Given the description of an element on the screen output the (x, y) to click on. 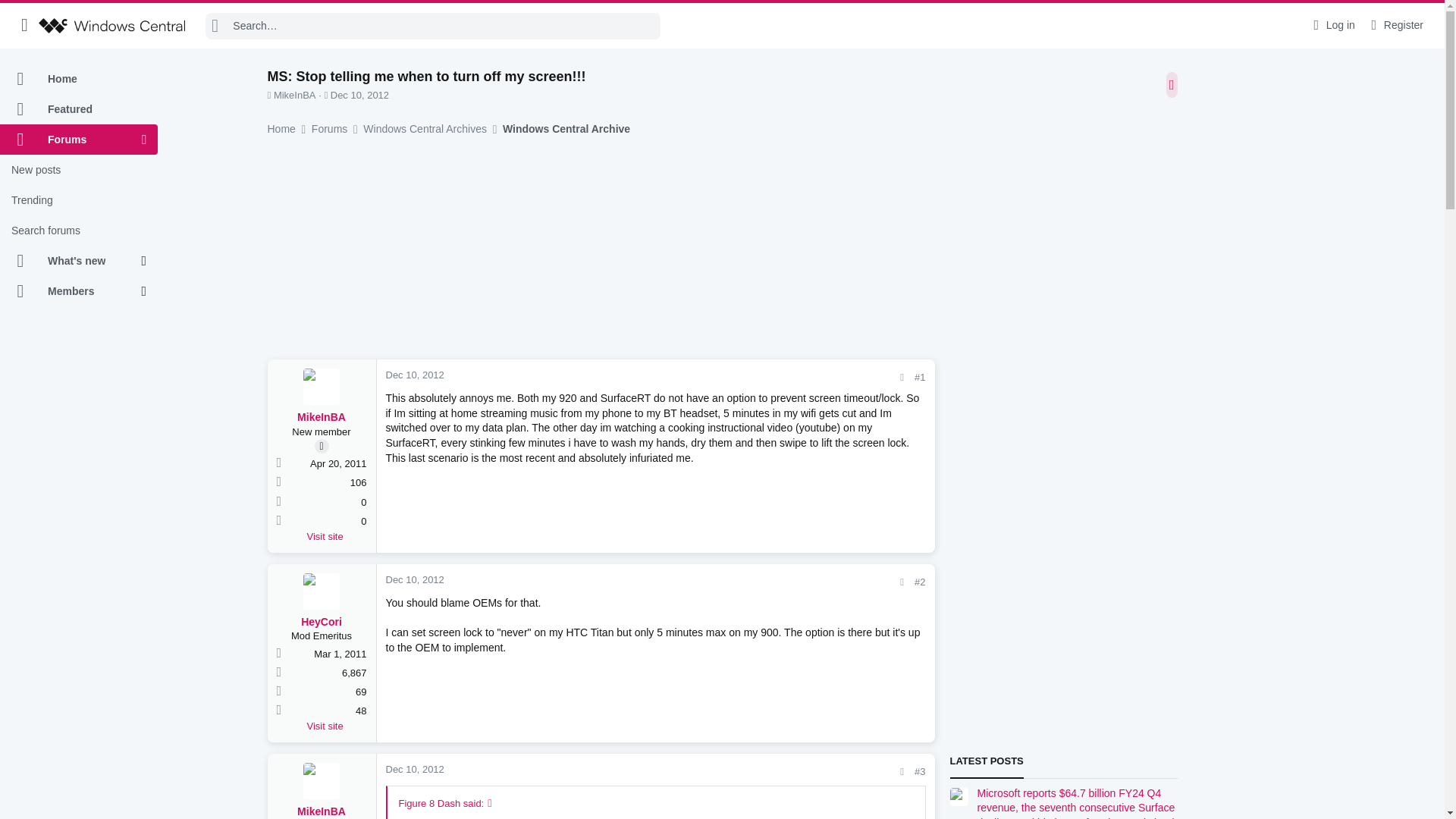
Forums (70, 139)
Original poster (321, 445)
Home (78, 78)
Register (1395, 24)
Featured (78, 109)
Dec 10, 2012 at 7:51 PM (414, 374)
New posts (78, 169)
Dec 10, 2012 at 7:51 PM (359, 94)
Search forums (78, 230)
Trending (78, 200)
What's new (70, 260)
Visit site (335, 536)
Log in (1332, 24)
